Given the description of an element on the screen output the (x, y) to click on. 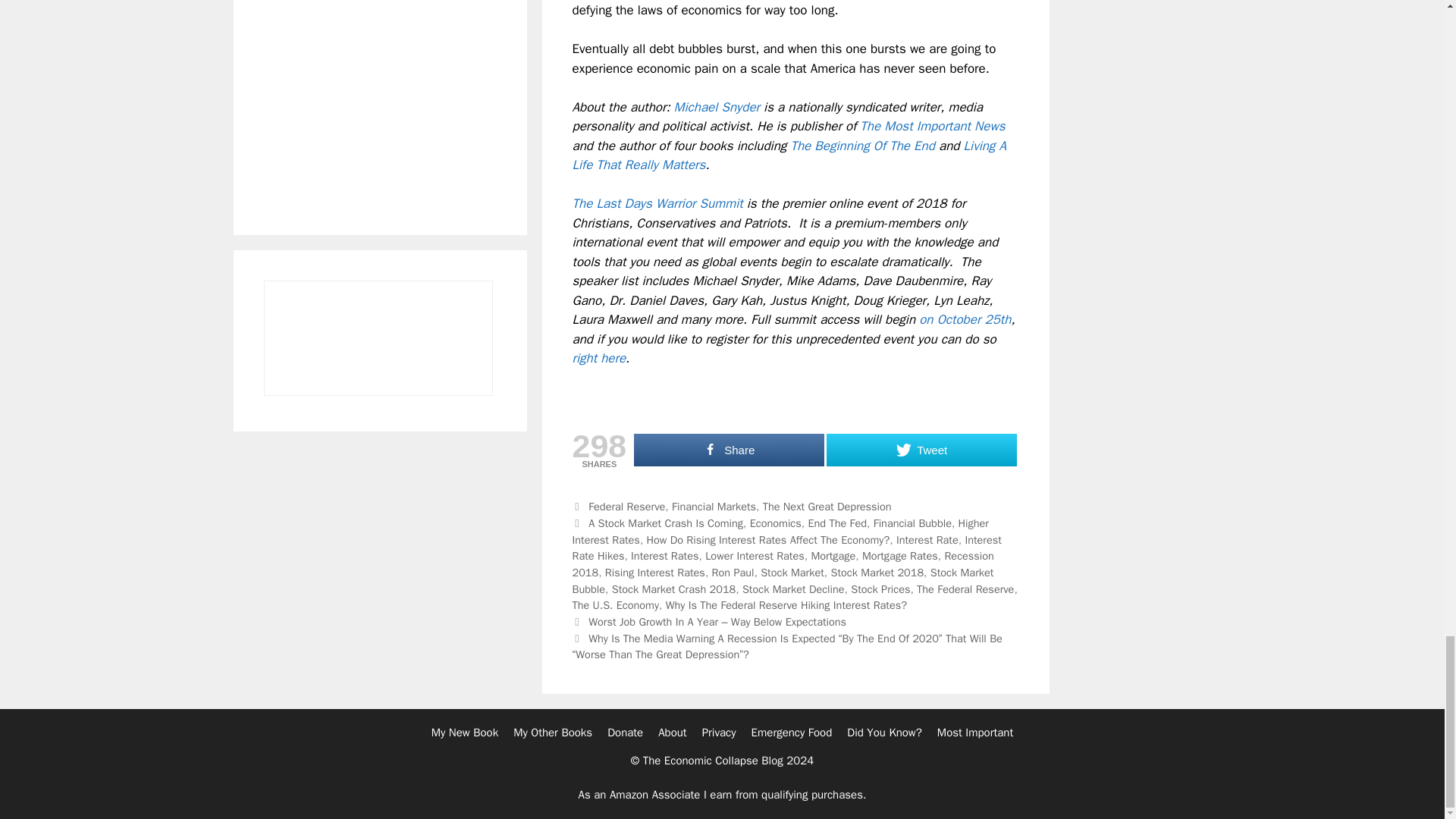
The Last Days Warrior Summit (657, 203)
The Beginning Of The End (862, 145)
The Most Important News (932, 125)
Financial Markets (713, 506)
Mortgage Rates (899, 555)
Economics (775, 522)
Living A Life That Really Matters (789, 155)
Interest Rate (927, 540)
A Stock Market Crash Is Coming (665, 522)
The Most Important News (932, 125)
